Given the description of an element on the screen output the (x, y) to click on. 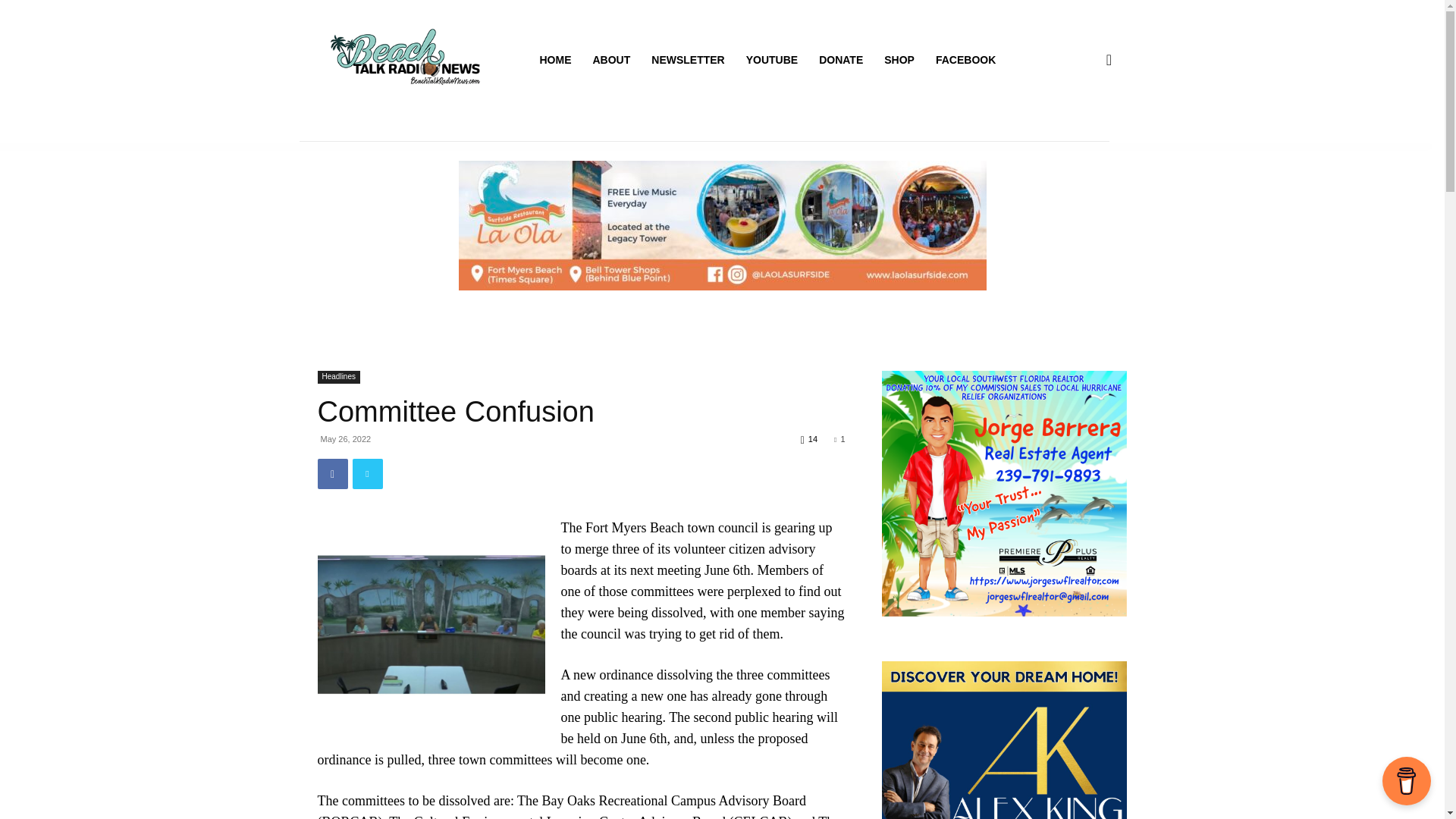
YOUTUBE (771, 59)
NEWSLETTER (687, 59)
Headlines (338, 377)
HOME (555, 59)
SHOP (898, 59)
DONATE (840, 59)
1 (839, 438)
CELCAB (430, 624)
Facebook (332, 473)
FACEBOOK (965, 59)
Twitter (366, 473)
ABOUT (612, 59)
